Given the description of an element on the screen output the (x, y) to click on. 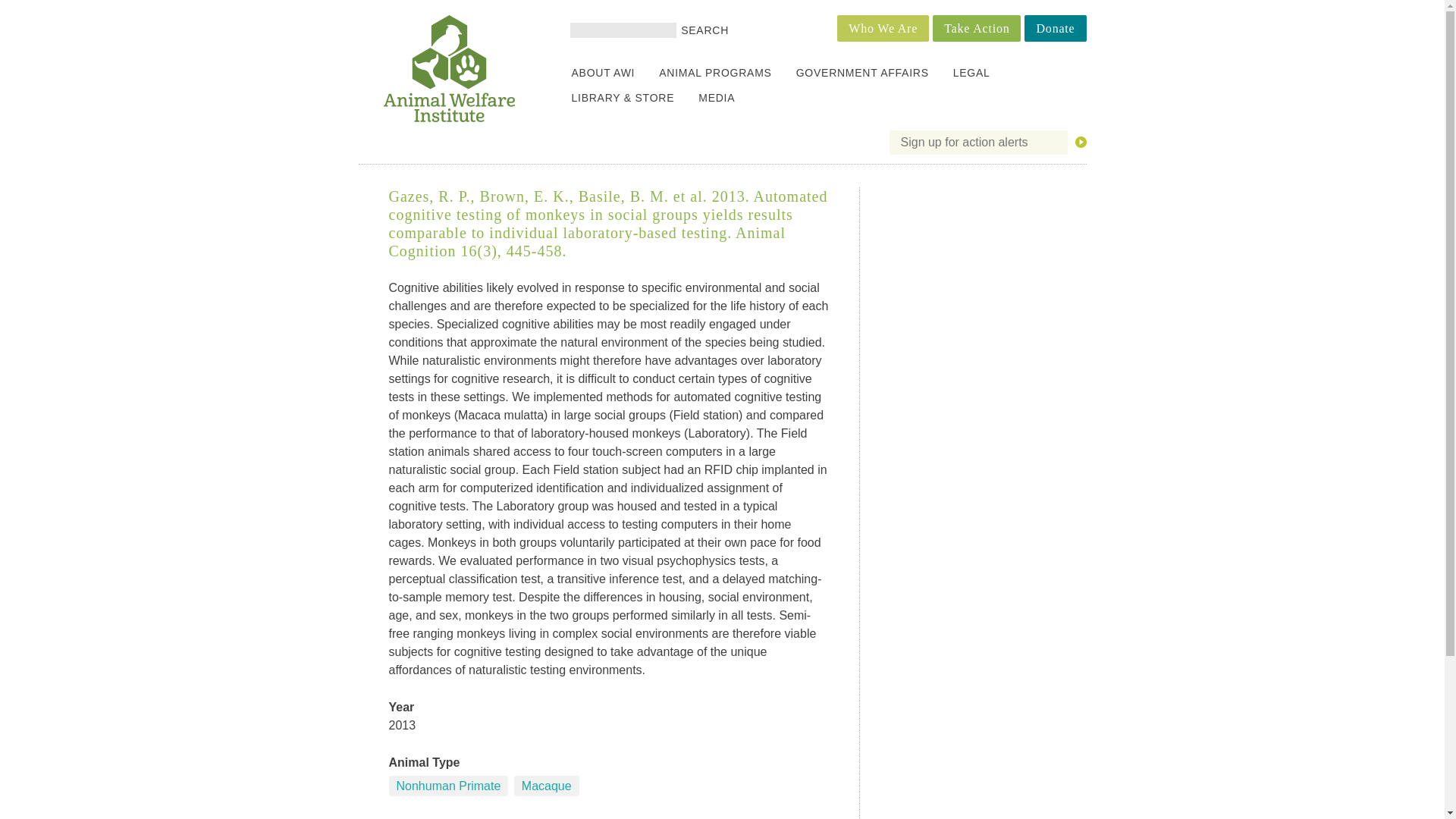
Search (705, 30)
Home (449, 117)
